Given the description of an element on the screen output the (x, y) to click on. 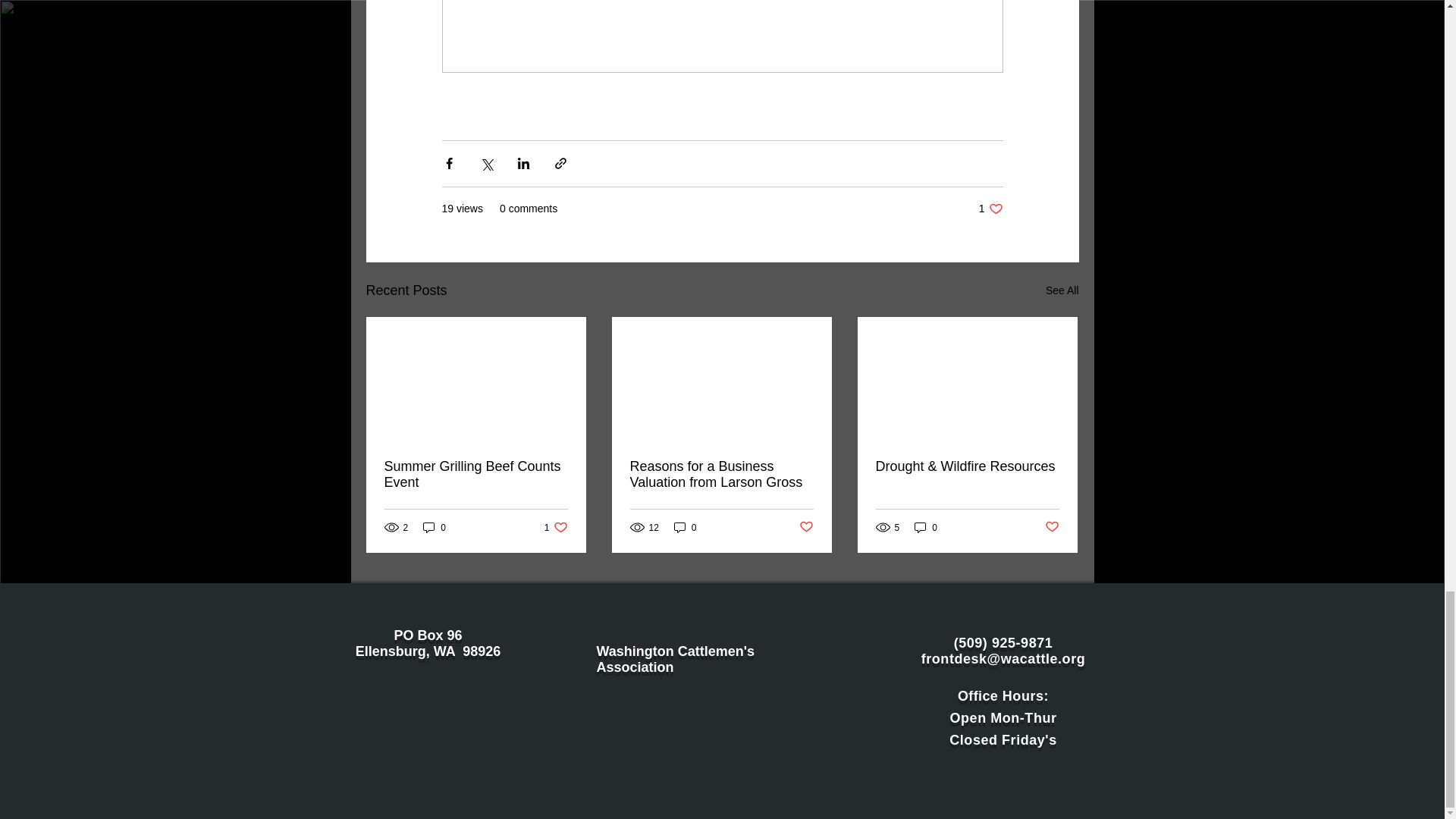
Summer Grilling Beef Counts Event (475, 474)
Reasons for a Business Valuation from Larson Gross (555, 527)
Post not marked as liked (720, 474)
0 (806, 527)
0 (685, 527)
See All (990, 208)
0 (434, 527)
